Given the description of an element on the screen output the (x, y) to click on. 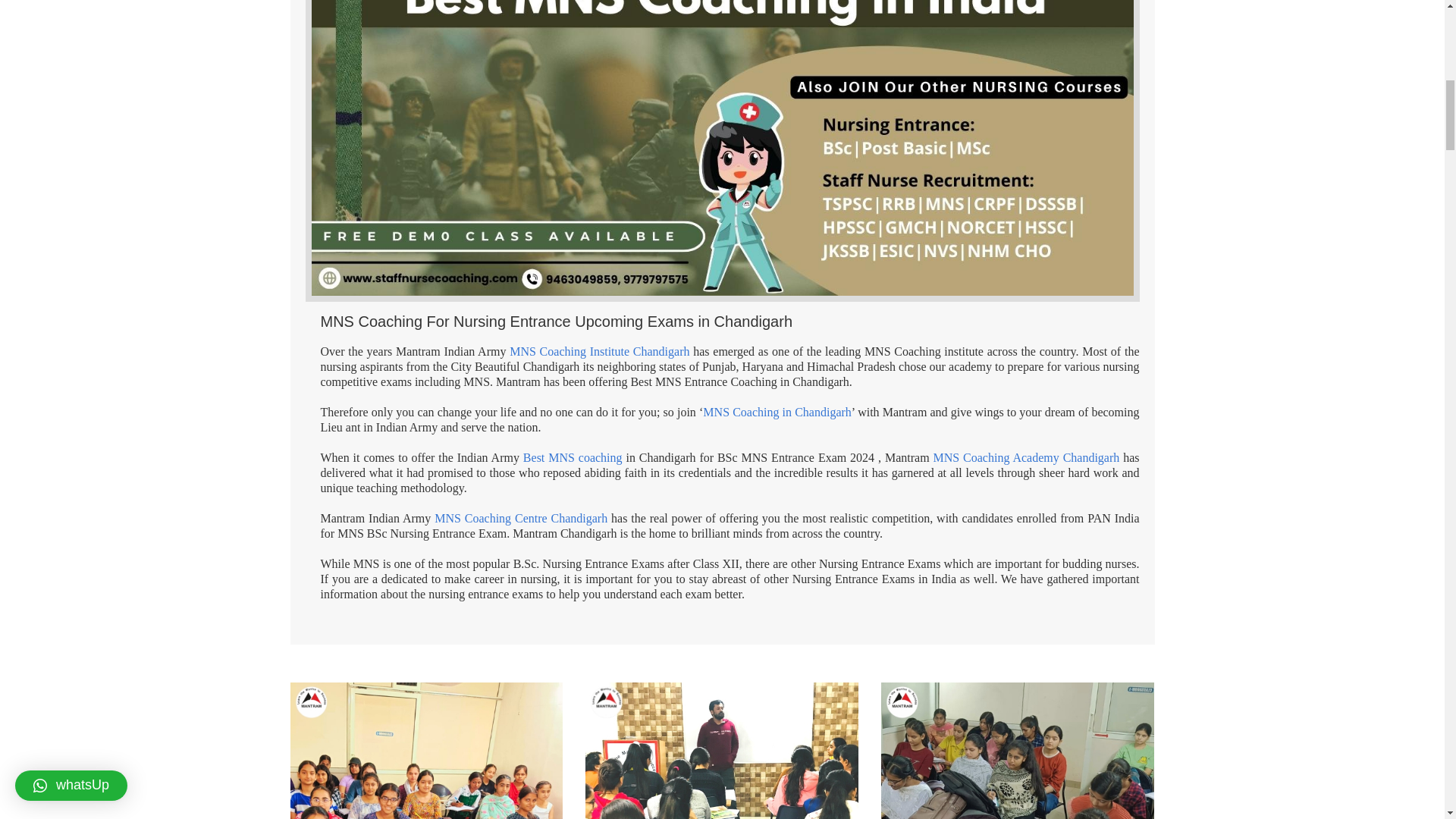
MNS Coaching Academy Chandigarh (1026, 457)
MNS Coaching Centre Chandigarh (520, 517)
MNS Coaching Institute Chandigarh (598, 350)
Best MNS coaching (572, 457)
MNS Coaching in Chandigarh (777, 411)
